Given the description of an element on the screen output the (x, y) to click on. 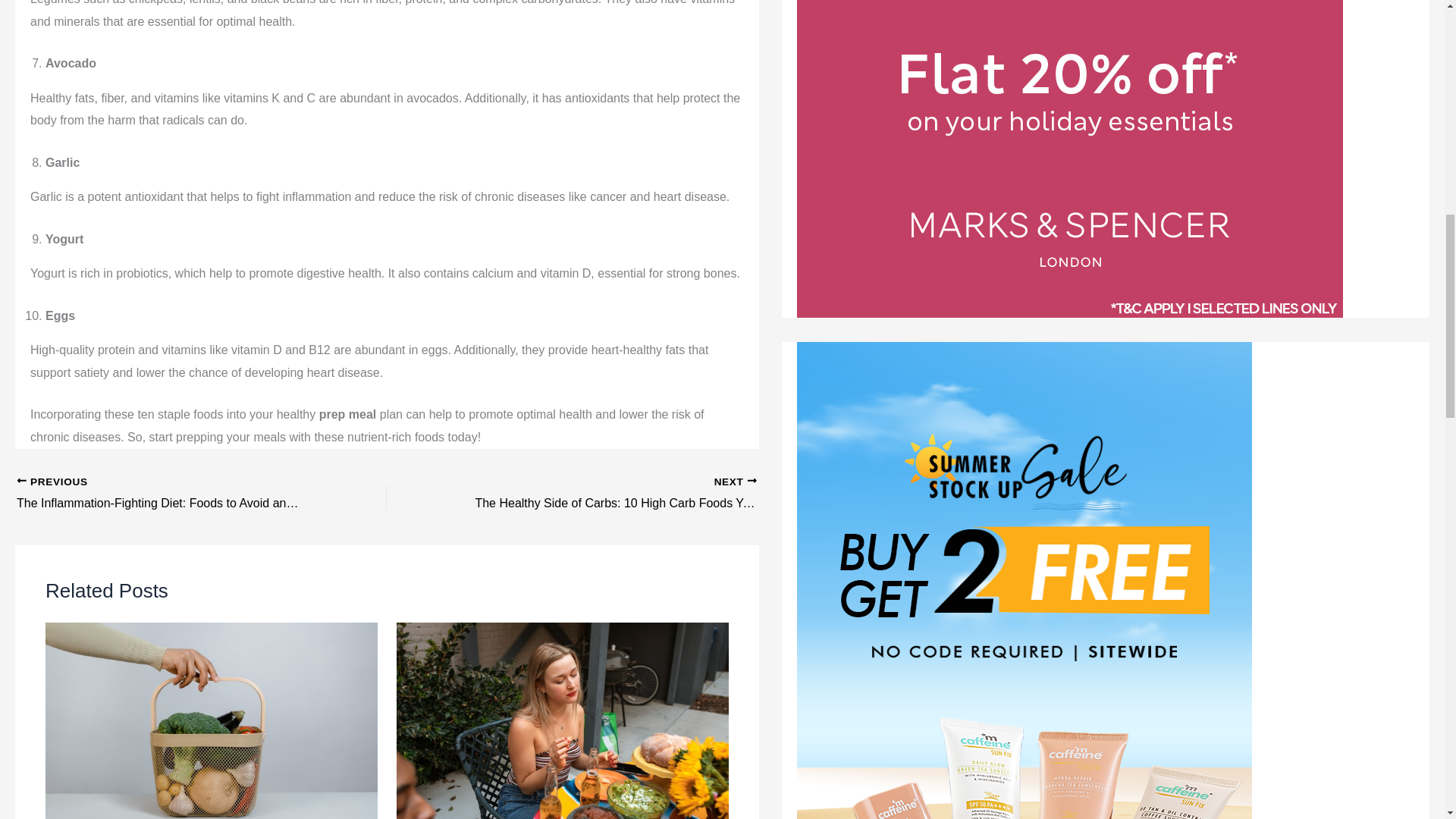
The Inflammation-Fighting Diet: Foods to Avoid and Embrace (165, 494)
